Given the description of an element on the screen output the (x, y) to click on. 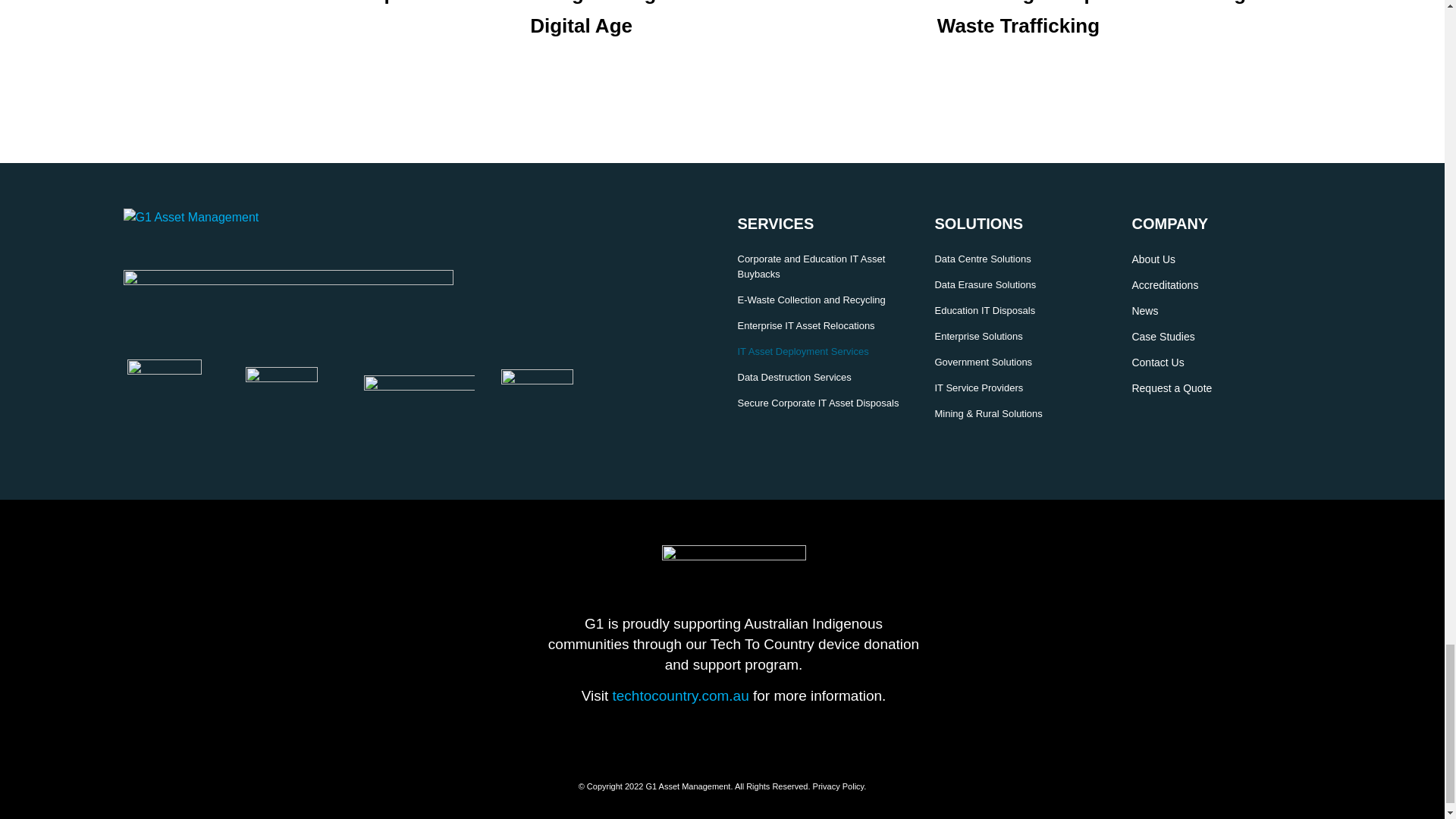
G1AM-Logo-2022-Rev-Retina (217, 217)
